Given the description of an element on the screen output the (x, y) to click on. 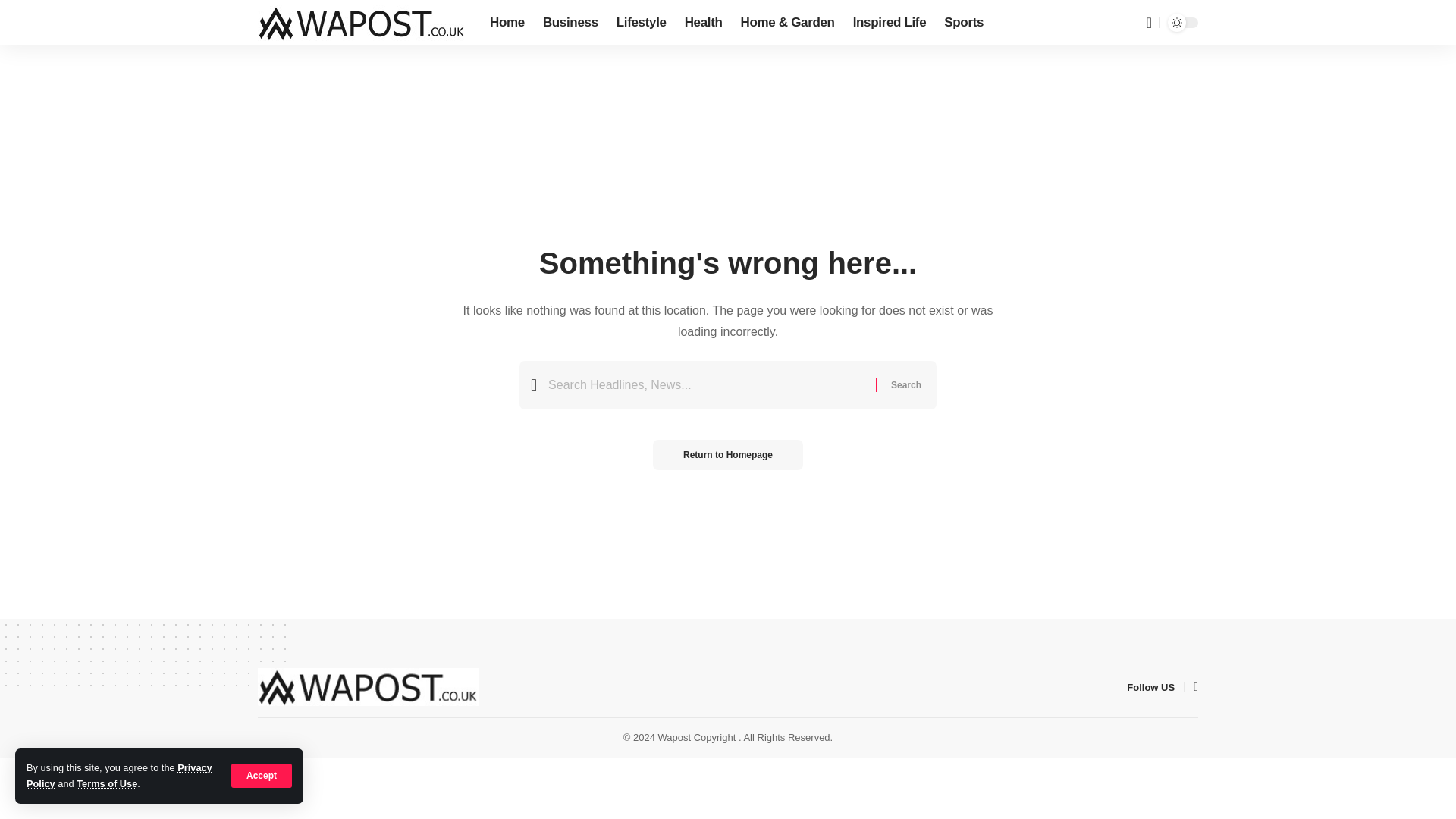
Home (507, 22)
Sports (963, 22)
Search (906, 385)
Lifestyle (641, 22)
Business (570, 22)
WA Post (361, 22)
Inspired Life (890, 22)
WA Post (368, 686)
Health (703, 22)
